Given the description of an element on the screen output the (x, y) to click on. 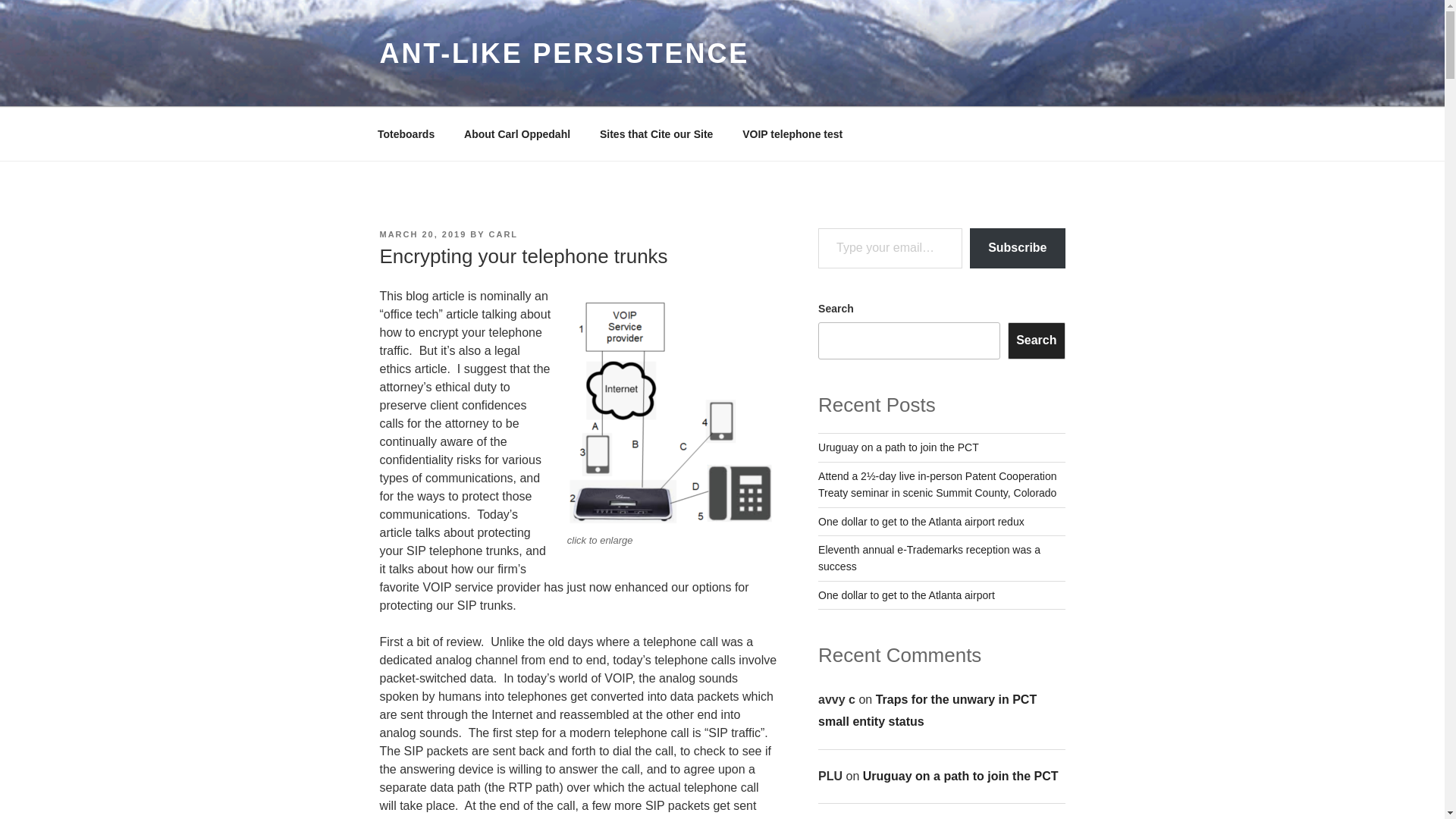
MARCH 20, 2019 (421, 234)
Search (1035, 340)
Uruguay on a path to join the PCT (898, 447)
VOIP telephone test (792, 133)
Sites that Cite our Site (655, 133)
CARL (503, 234)
ANT-LIKE PERSISTENCE (563, 52)
Please fill in this field. (890, 248)
Subscribe (1016, 248)
Toteboards (405, 133)
About Carl Oppedahl (517, 133)
